Given the description of an element on the screen output the (x, y) to click on. 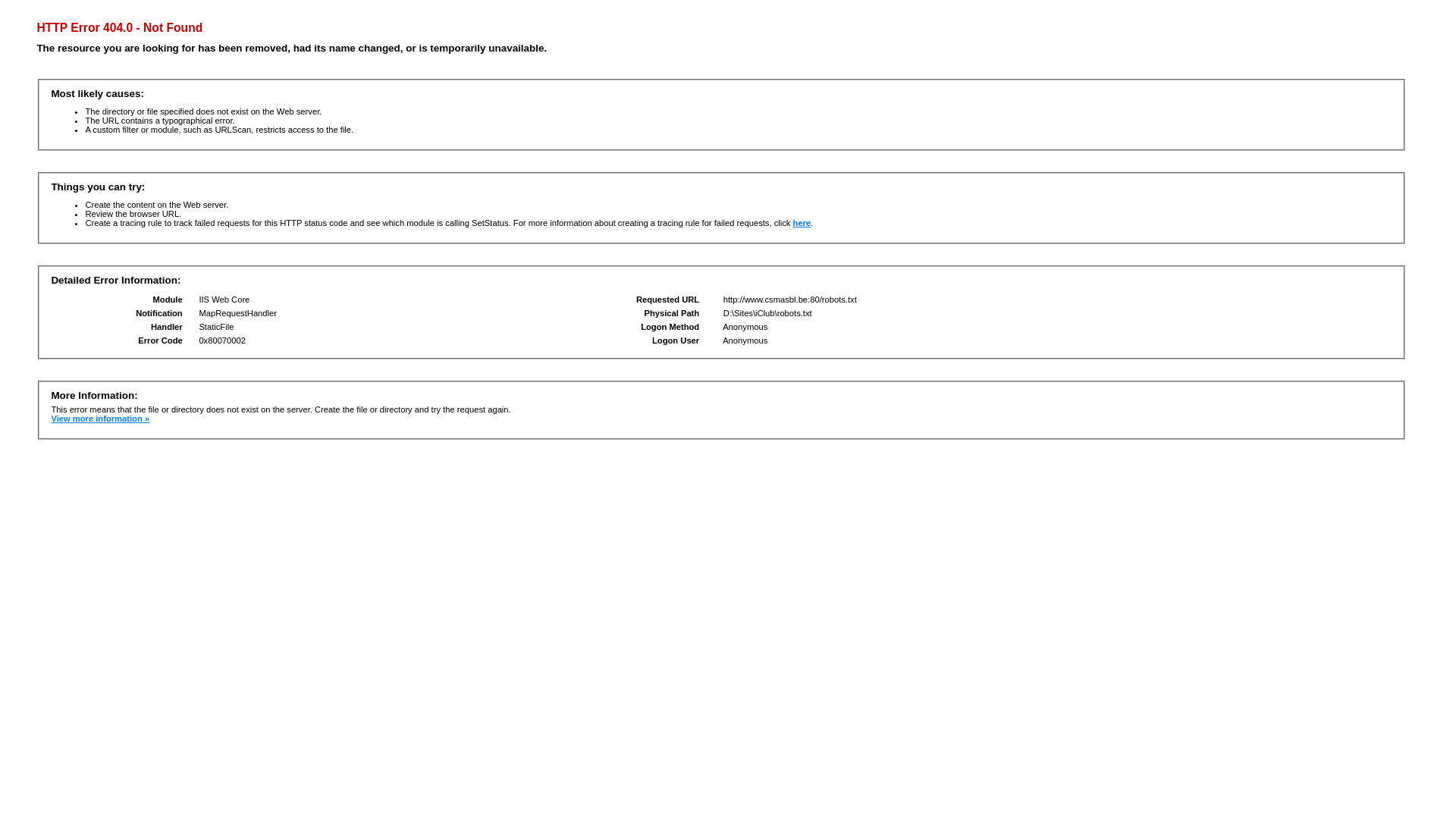
here Element type: text (802, 222)
